Given the description of an element on the screen output the (x, y) to click on. 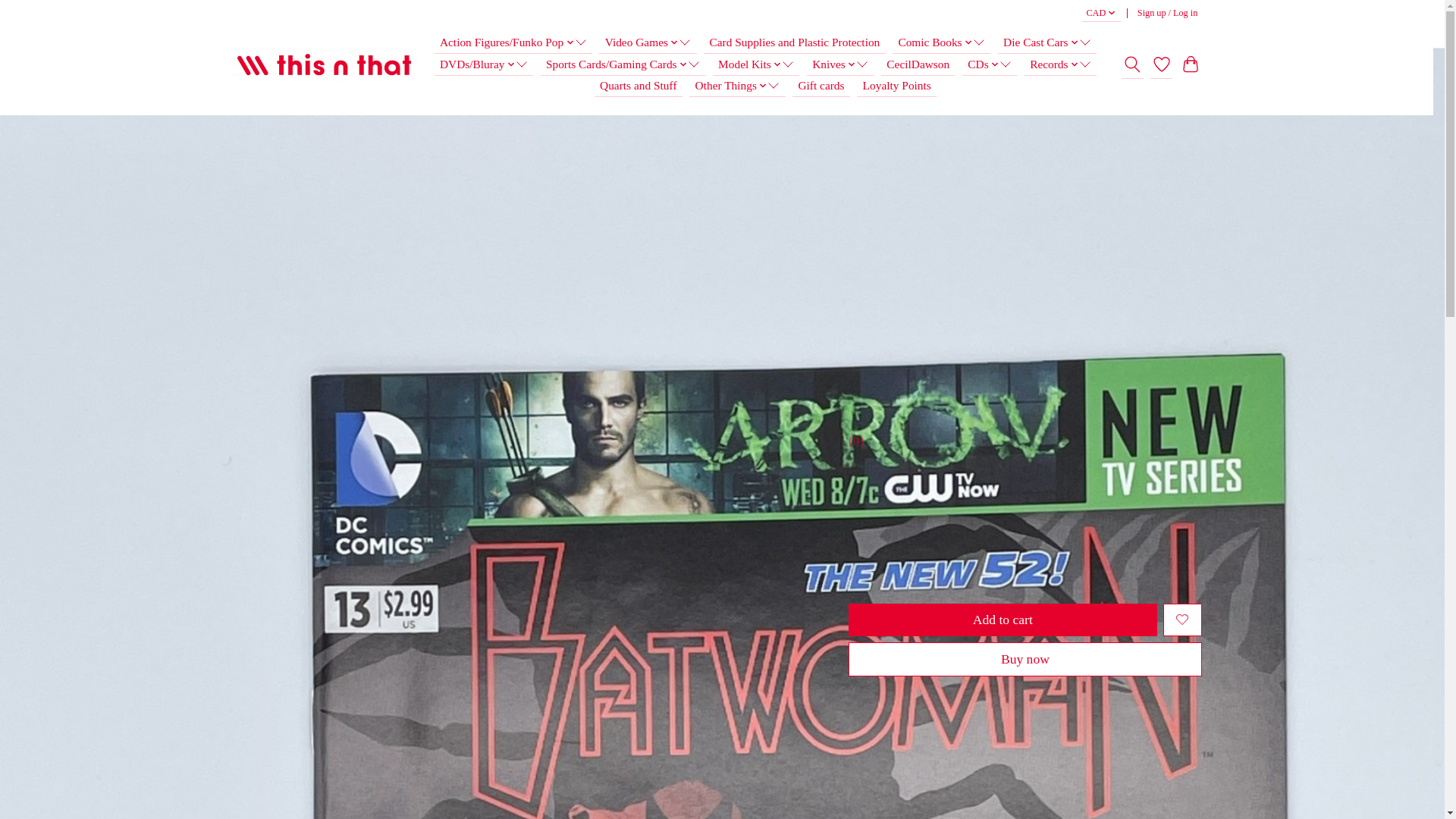
1 (937, 567)
Die Cast Cars (1046, 42)
Video Games (646, 42)
Comic Books (941, 42)
This N That - Your Online Super Shop of all things awesome! (323, 64)
CAD (1101, 13)
Card Supplies and Plastic Protection (794, 42)
My account (1167, 13)
